Given the description of an element on the screen output the (x, y) to click on. 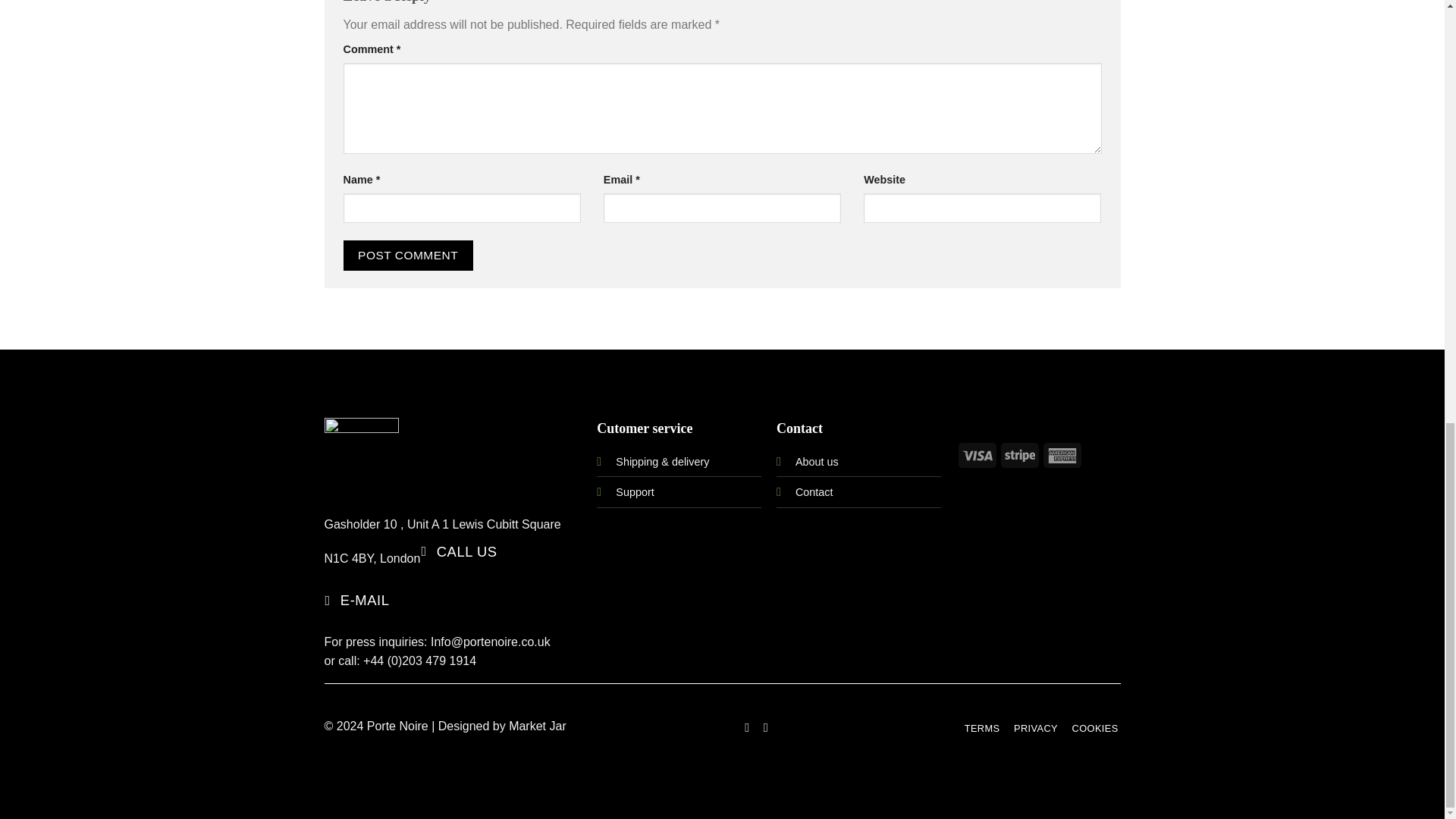
Post Comment (406, 255)
CALL US (459, 551)
Follow on Instagram (765, 726)
E-MAIL (358, 600)
Post Comment (406, 255)
Support (634, 491)
Follow on Facebook (746, 726)
